Given the description of an element on the screen output the (x, y) to click on. 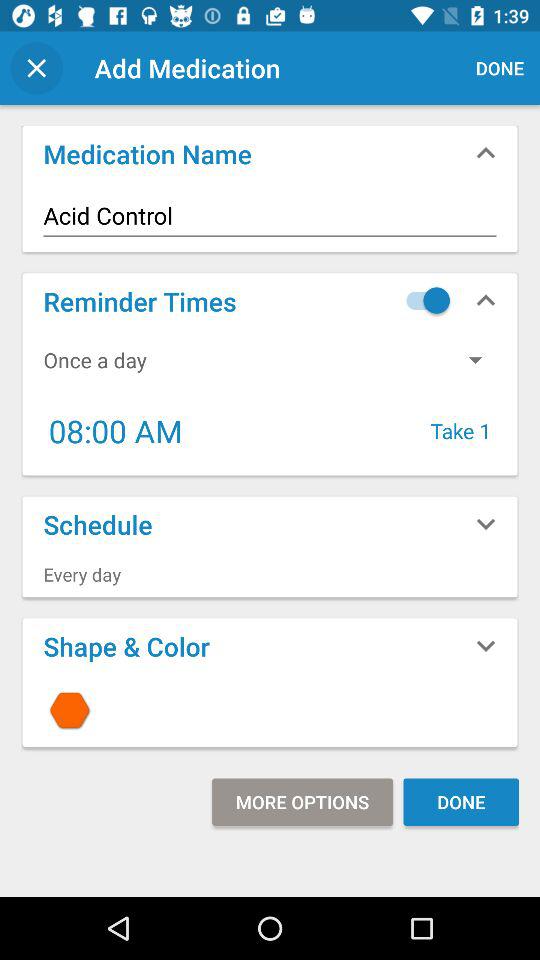
turn on more options icon (302, 801)
